Given the description of an element on the screen output the (x, y) to click on. 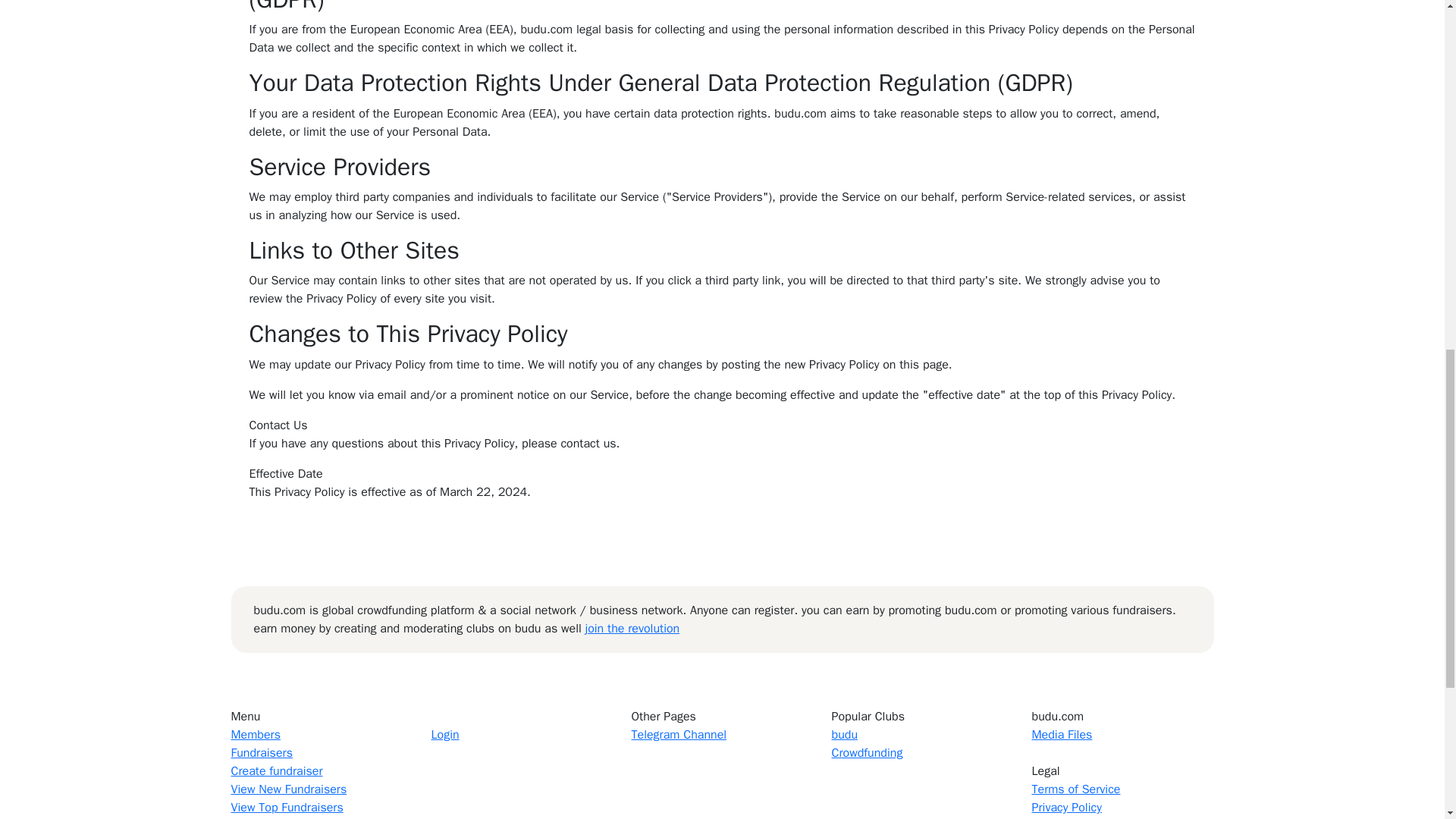
budu (844, 734)
Privacy Policy (1065, 807)
join the revolution (632, 628)
Media Files (1061, 734)
Fundraisers (261, 752)
Telegram Channel (678, 734)
Crowdfunding (866, 752)
View New Fundraisers (288, 789)
Login (444, 734)
View Top Fundraisers (286, 807)
Terms of Service (1074, 789)
Create fundraiser (275, 770)
Members (255, 734)
